Given the description of an element on the screen output the (x, y) to click on. 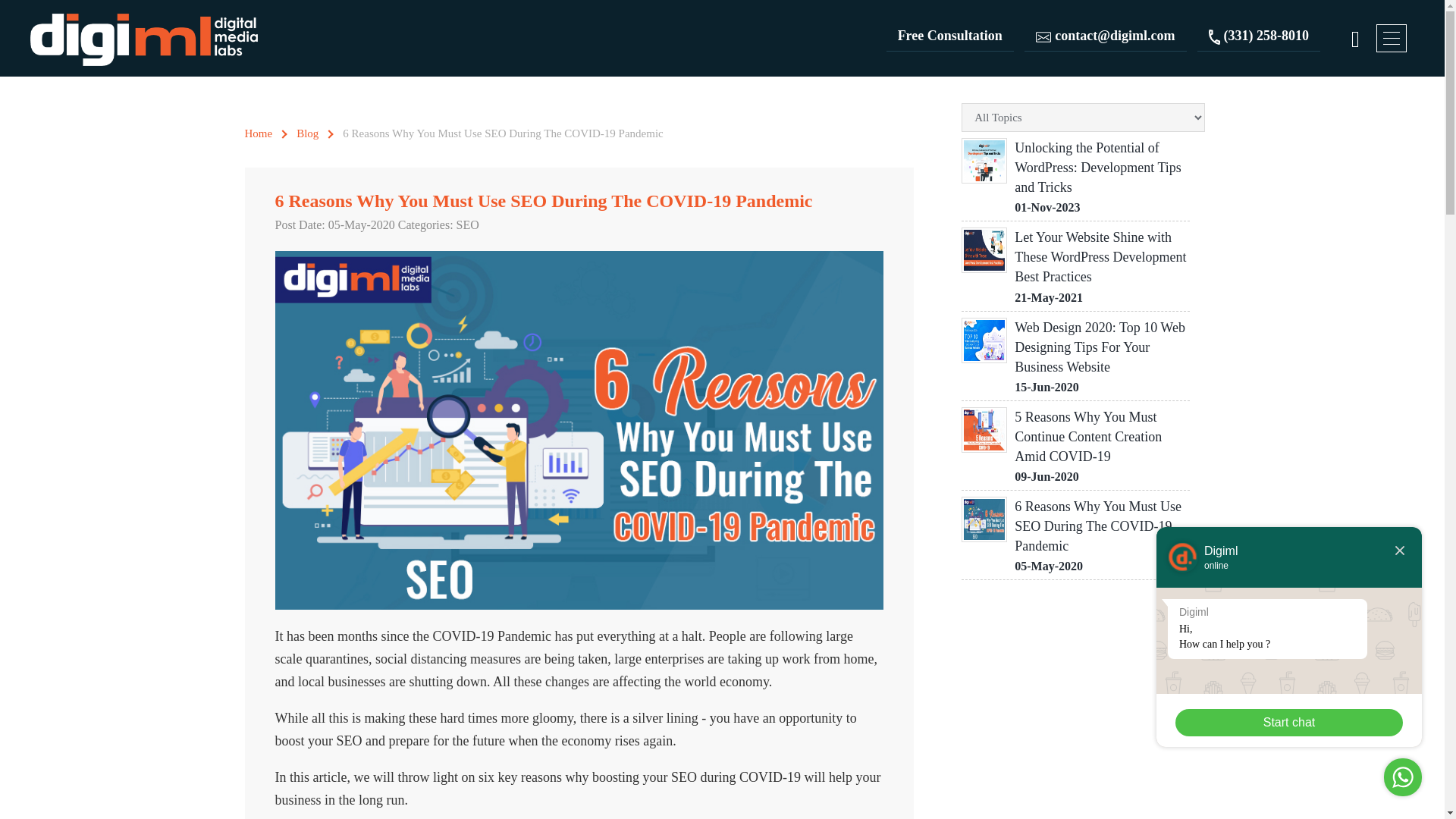
SEO (468, 224)
Blog (314, 133)
Home (264, 133)
Free Consultation (949, 36)
